Given the description of an element on the screen output the (x, y) to click on. 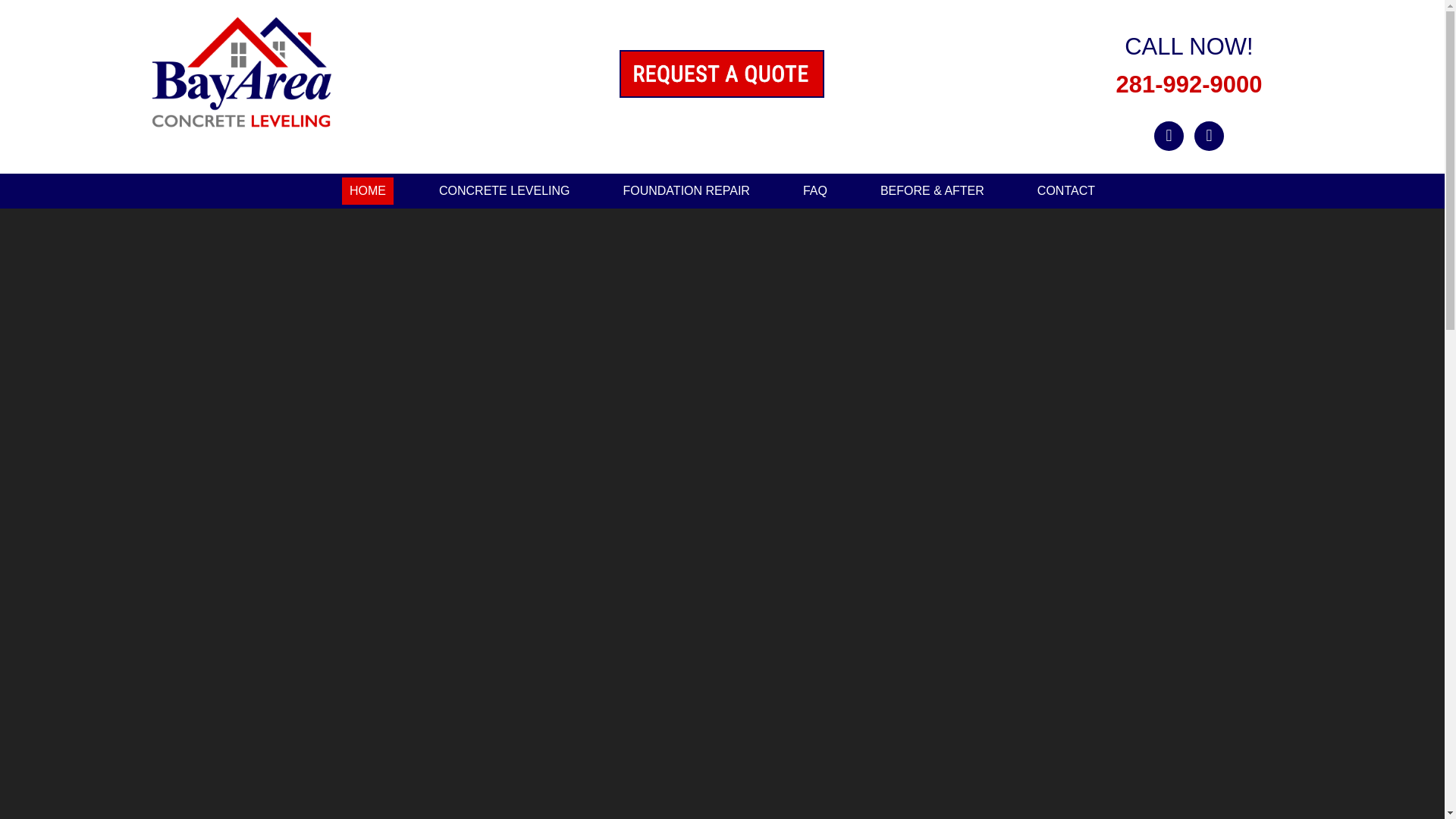
CONCRETE LEVELING (503, 190)
Bay Area Concrete Levelers trans (241, 76)
CONTACT (1065, 190)
request-quote (722, 73)
FOUNDATION REPAIR (685, 190)
HOME (367, 190)
FAQ (814, 190)
